Given the description of an element on the screen output the (x, y) to click on. 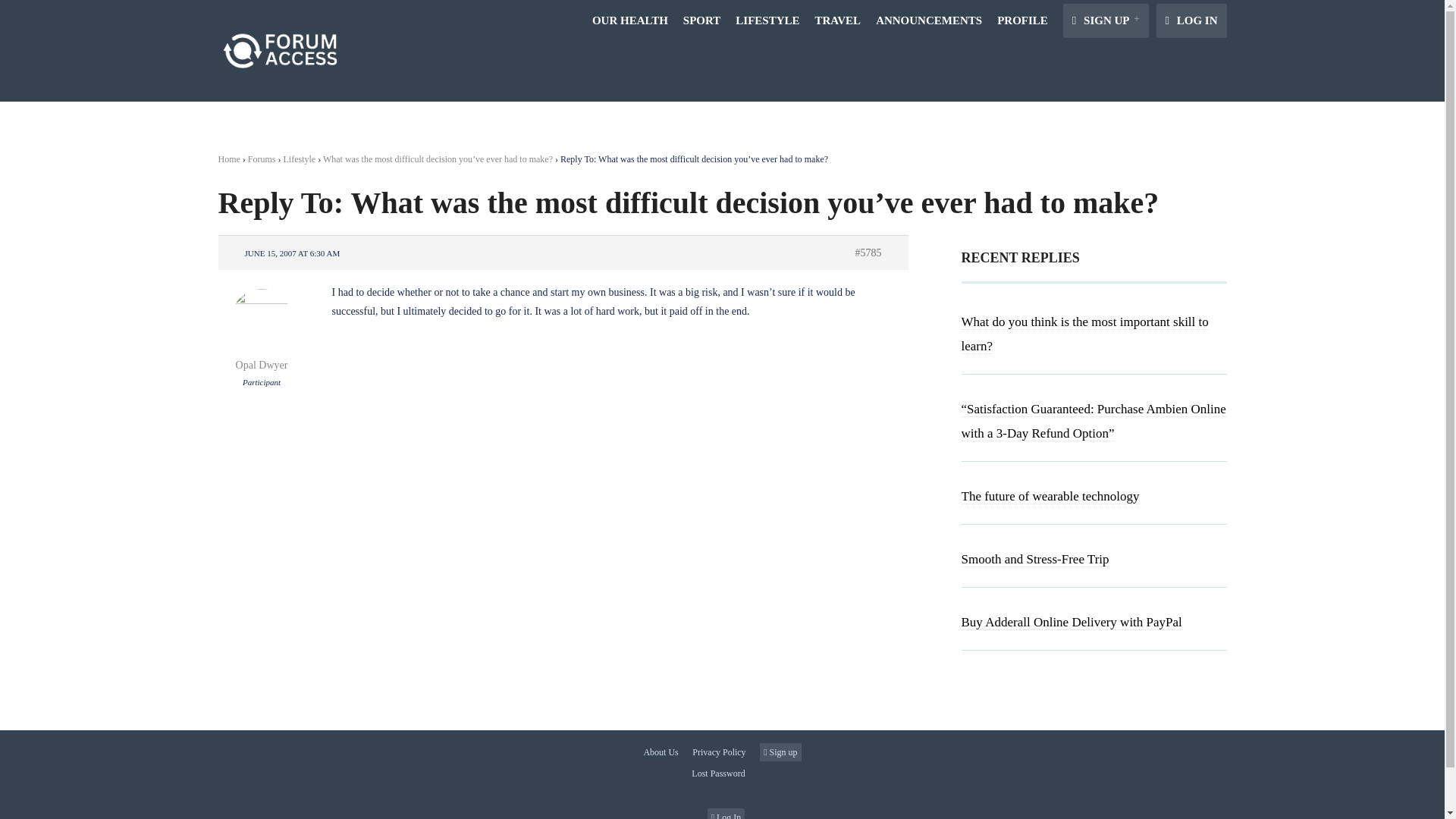
SPORT (701, 20)
Forums (261, 158)
What do you think is the most important skill to learn? (1084, 333)
SIGN UP (1105, 20)
Lifestyle (299, 158)
Sign up (780, 751)
ANNOUNCEMENTS (928, 20)
Lost Password (721, 773)
Smooth and Stress-Free Trip (1034, 559)
Buy Adderall Online Delivery with PayPal (1071, 622)
Log In (726, 813)
Opal Dwyer (261, 357)
The future of wearable technology (1050, 496)
LIFESTYLE (767, 20)
LOG IN (1190, 20)
